Given the description of an element on the screen output the (x, y) to click on. 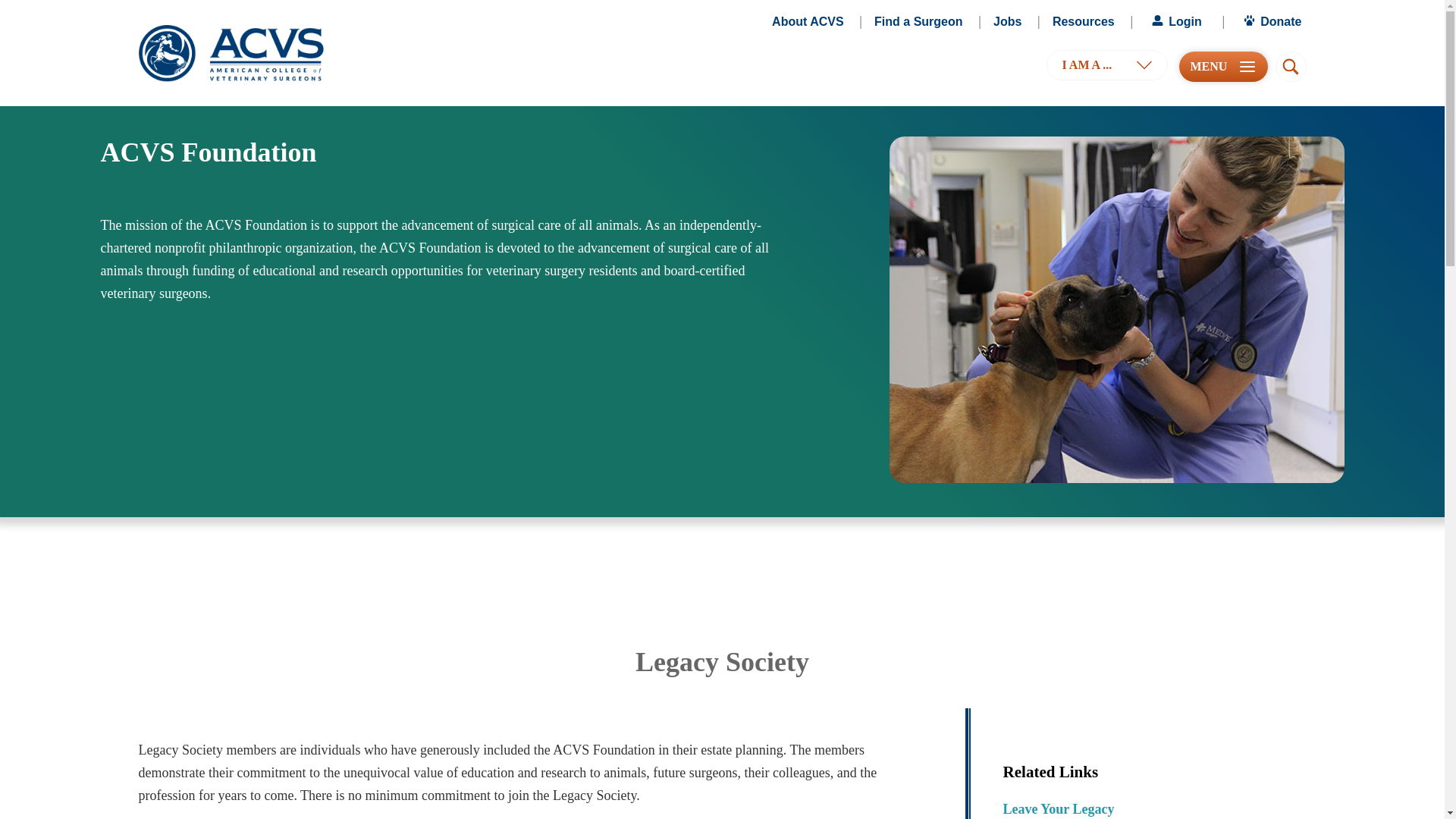
Donate (1271, 21)
Resources (1083, 21)
Jobs (1007, 21)
About ACVS (807, 21)
Login (1175, 21)
Find a Surgeon (918, 21)
